Given the description of an element on the screen output the (x, y) to click on. 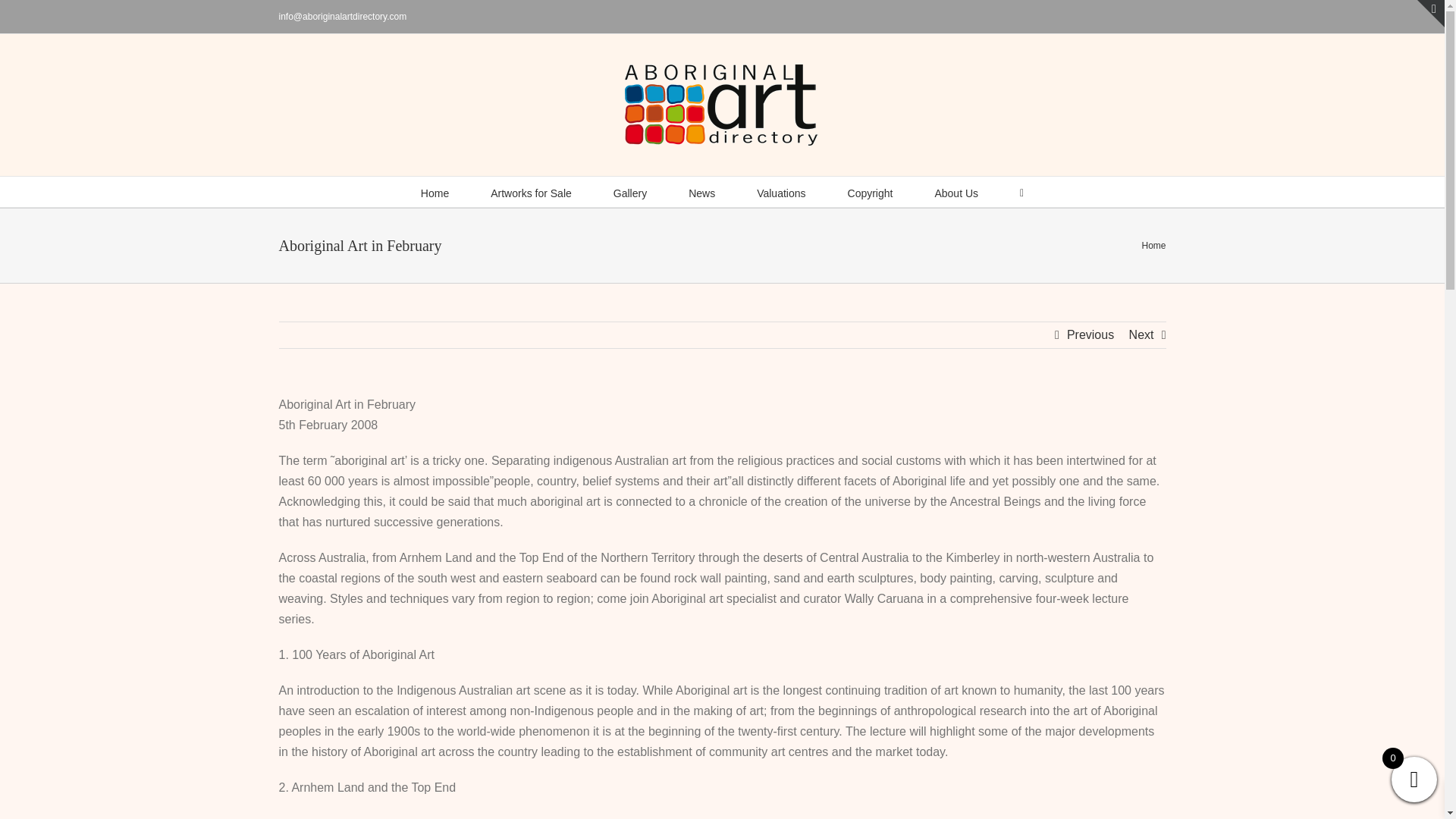
Valuations (781, 191)
Previous (1090, 335)
Copyright (870, 191)
Gallery (629, 191)
Artworks for Sale (531, 191)
Home (434, 191)
About Us (956, 191)
Next (1141, 335)
